Given the description of an element on the screen output the (x, y) to click on. 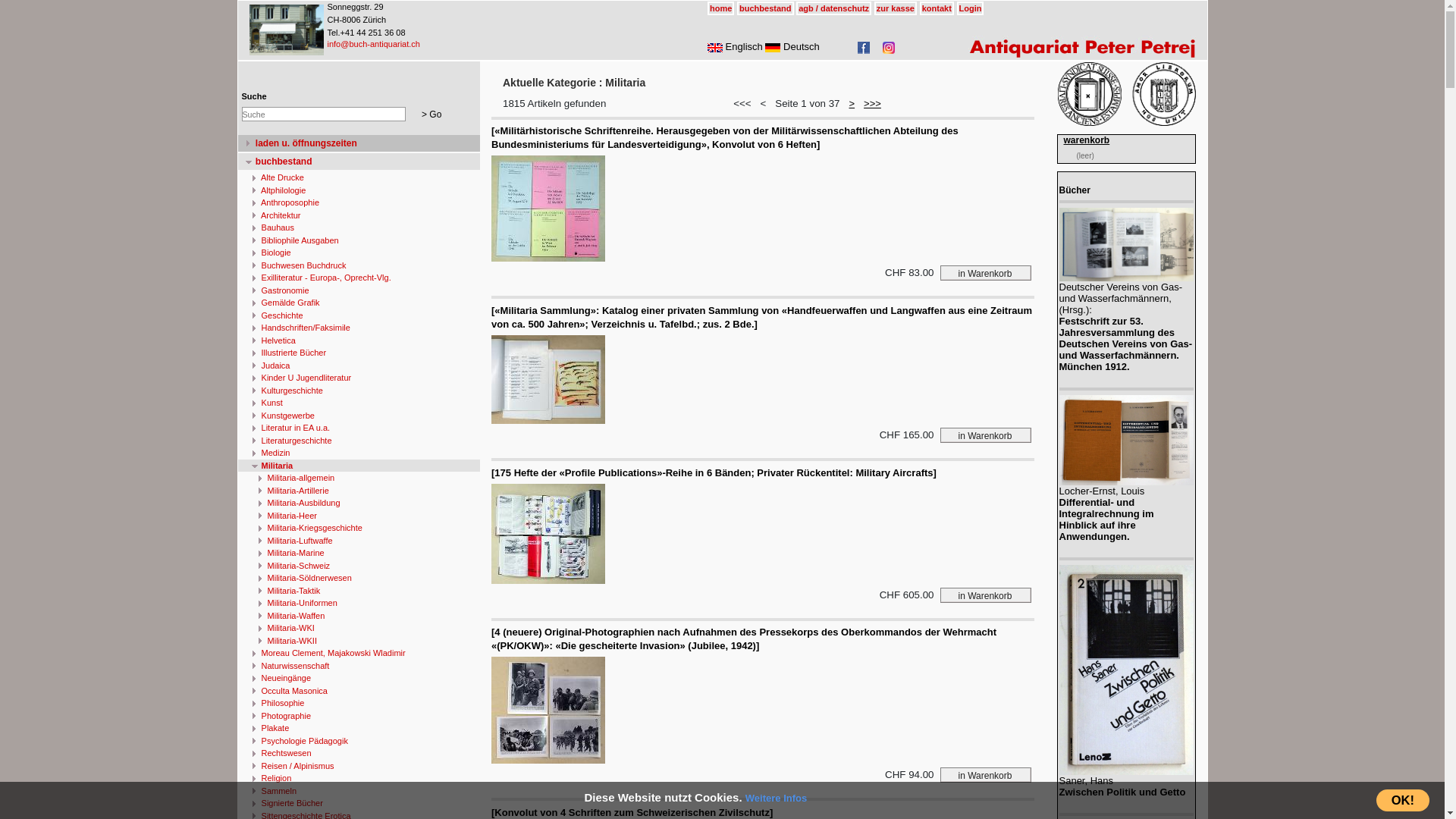
info@buch-antiquariat.ch Element type: text (373, 43)
Literaturgeschichte Element type: text (359, 440)
Englisch Element type: text (734, 46)
Kulturgeschichte Element type: text (359, 390)
in Warenkorb Element type: text (985, 774)
Militaria Element type: text (359, 465)
Militaria-Waffen Element type: text (359, 615)
Photographie Element type: text (359, 715)
Militaria-WKII Element type: text (359, 640)
Alte Drucke Element type: text (359, 177)
Judaica Element type: text (359, 365)
Militaria-Heer Element type: text (359, 515)
Moreau Clement, Majakowski Wladimir Element type: text (359, 652)
Naturwissenschaft Element type: text (359, 665)
home Element type: text (720, 8)
kontakt Element type: text (936, 8)
Reisen / Alpinismus Element type: text (359, 765)
in Warenkorb Element type: text (985, 434)
Plakate Element type: text (359, 727)
Militaria-WKI Element type: text (359, 627)
Altphilologie Element type: text (359, 190)
Militaria-Marine Element type: text (359, 552)
Rechtswesen Element type: text (359, 752)
Instagram - Peter Petrej Element type: hover (888, 47)
zur kasse Element type: text (895, 8)
Religion Element type: text (359, 777)
in Warenkorb Element type: text (985, 272)
in Warenkorb Element type: text (985, 594)
> Go Element type: text (431, 113)
Medizin Element type: text (359, 452)
Biologie Element type: text (359, 252)
Handschriften/Faksimile Element type: text (359, 327)
OK! Element type: text (1402, 800)
Weitere Infos Element type: text (775, 797)
Facebook - Peter Petrej Element type: hover (863, 47)
Bibliophile Ausgaben Element type: text (359, 240)
Occulta Masonica Element type: text (359, 690)
Militaria-Artillerie Element type: text (359, 490)
Sammeln Element type: text (359, 790)
Anthroposophie Element type: text (359, 202)
Militaria-Kriegsgeschichte Element type: text (359, 527)
buchbestand Element type: text (359, 161)
Gastronomie Element type: text (359, 290)
warenkorb Element type: text (1086, 139)
Philosophie Element type: text (359, 702)
Militaria-Luftwaffe Element type: text (359, 540)
Literatur in EA u.a. Element type: text (359, 427)
Militaria-allgemein Element type: text (359, 477)
agb / datenschutz Element type: text (833, 8)
Saner, Hans
Zwischen Politik und Getto Element type: text (1125, 730)
Kunst Element type: text (359, 402)
Architektur Element type: text (359, 215)
Buchwesen Buchdruck Element type: text (359, 265)
Militaria-Taktik Element type: text (359, 590)
Militaria-Uniformen Element type: text (359, 602)
Bauhaus Element type: text (359, 227)
[Konvolut von 4 Schriften zum Schweizerischen Zivilschutz] Element type: text (631, 812)
Militaria-Ausbildung Element type: text (359, 502)
Kinder U Jugendliteratur Element type: text (359, 377)
Militaria-Schweiz Element type: text (359, 565)
Exilliteratur - Europa-, Oprecht-Vlg. Element type: text (359, 277)
Deutsch Element type: text (792, 46)
Kunstgewerbe Element type: text (359, 415)
Geschichte Element type: text (359, 315)
Login Element type: text (970, 8)
Helvetica Element type: text (359, 340)
buchbestand Element type: text (765, 8)
